Given the description of an element on the screen output the (x, y) to click on. 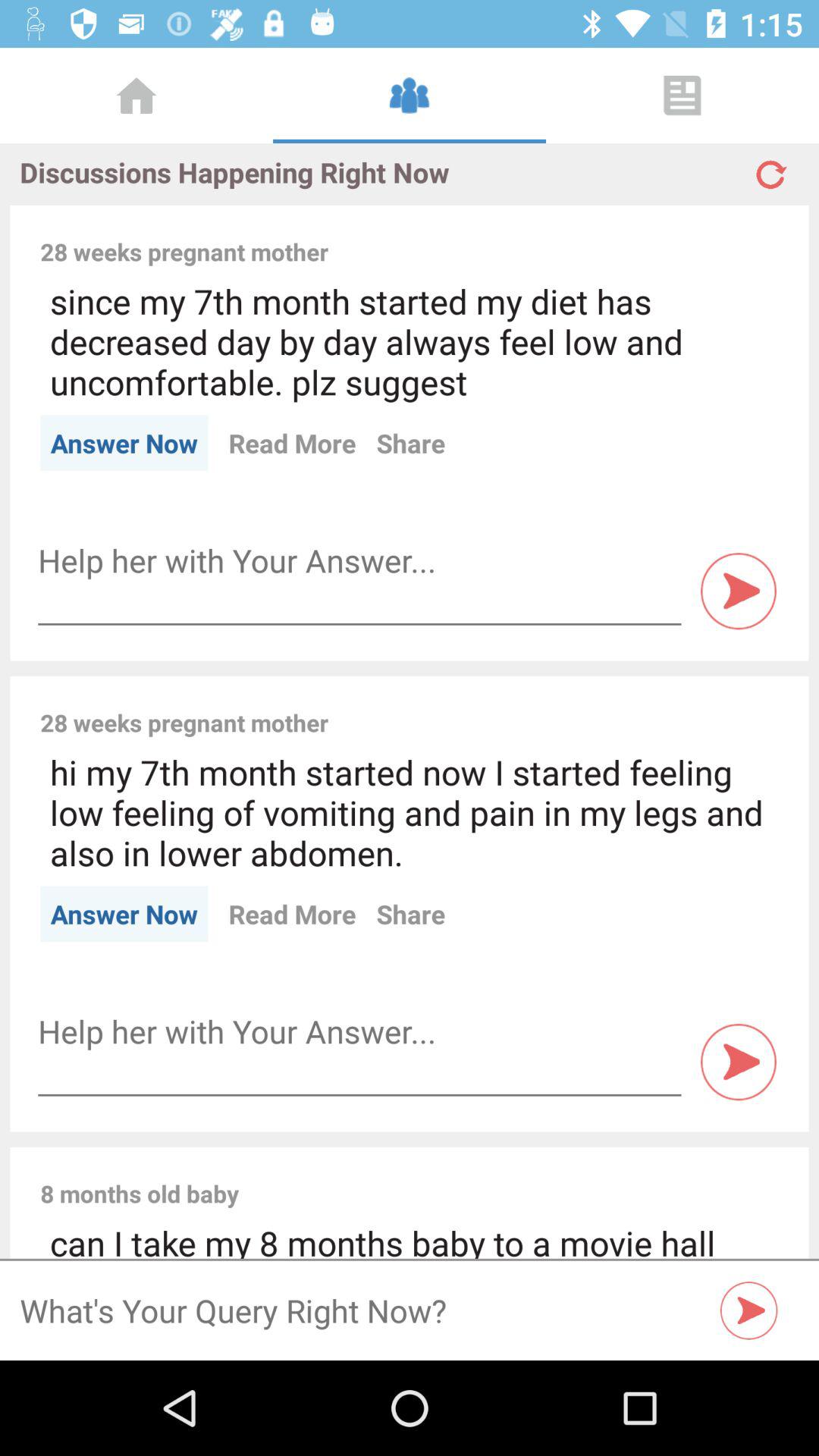
choose the item above since my 7th (563, 235)
